Given the description of an element on the screen output the (x, y) to click on. 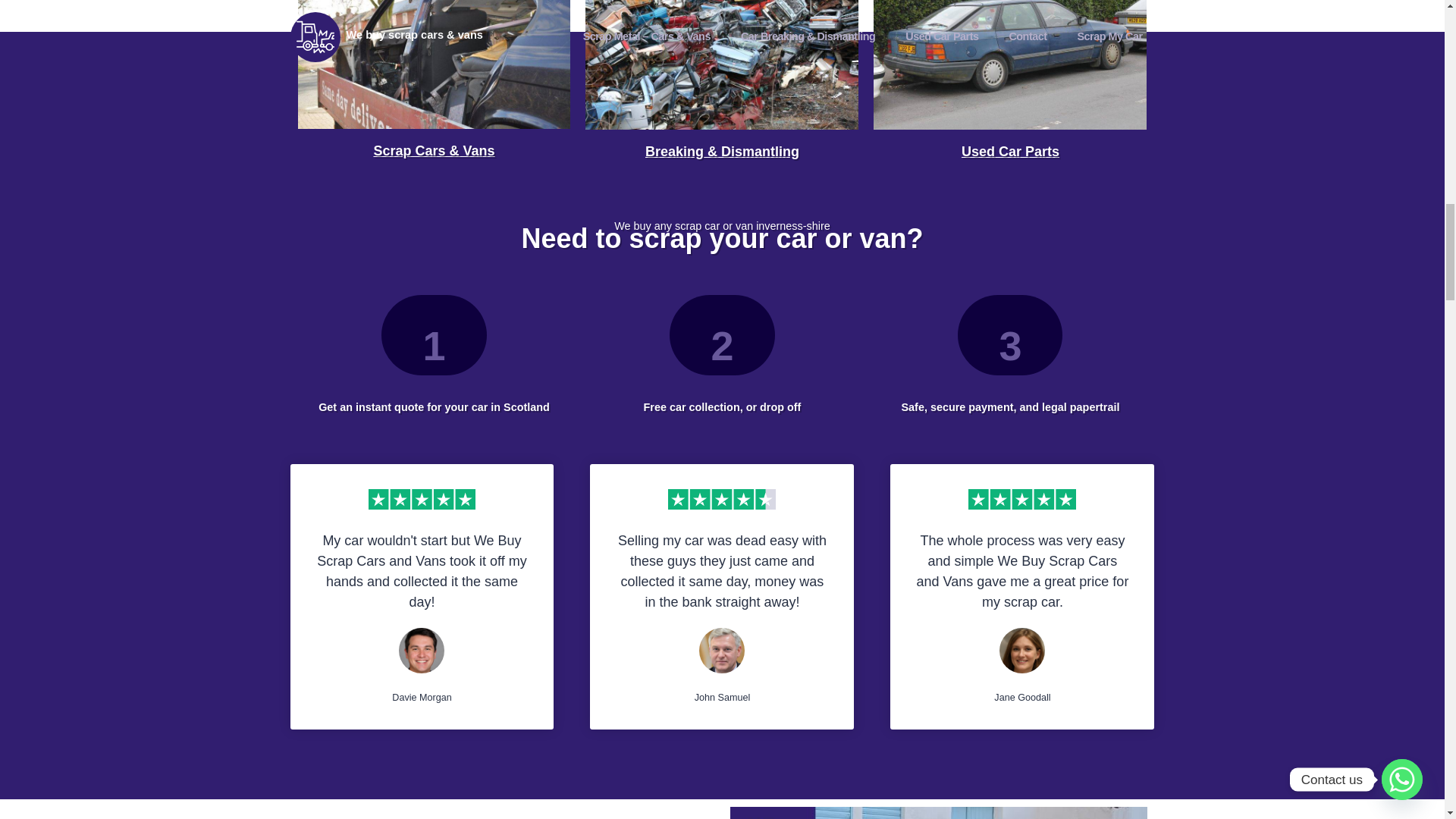
Used Car Parts (1009, 151)
